Given the description of an element on the screen output the (x, y) to click on. 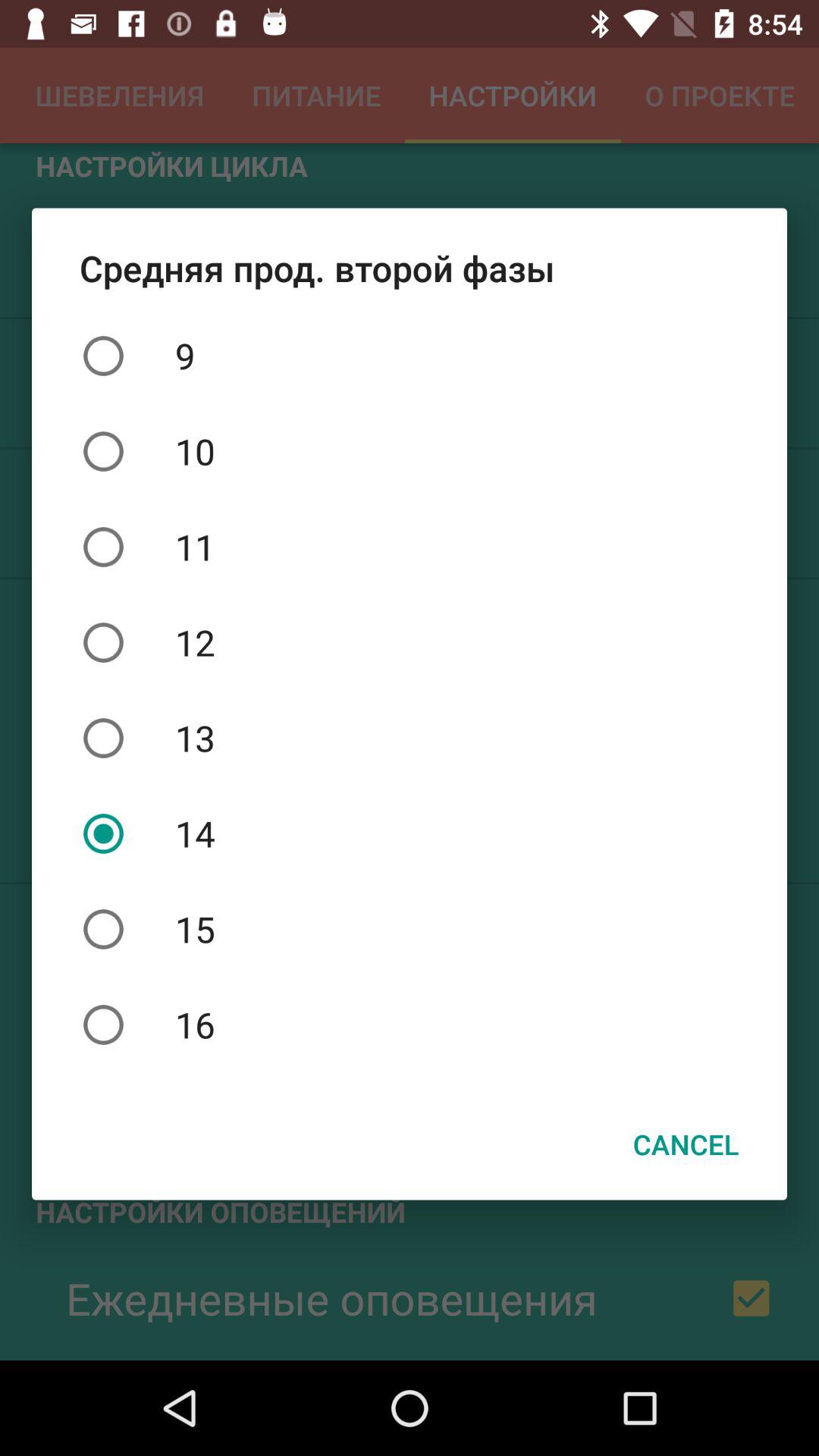
jump until cancel (686, 1144)
